Given the description of an element on the screen output the (x, y) to click on. 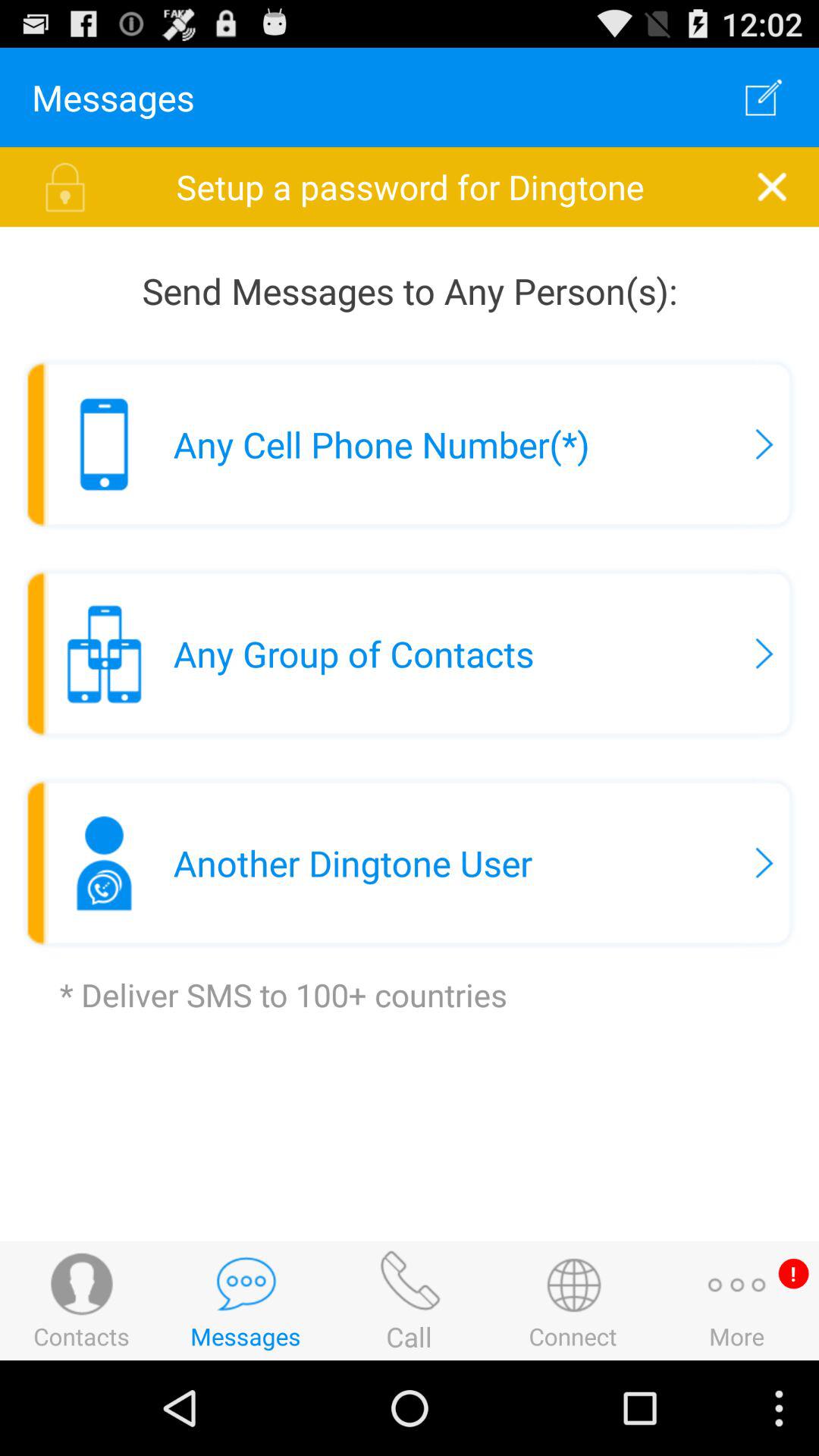
turn on app above the setup a password (763, 97)
